Given the description of an element on the screen output the (x, y) to click on. 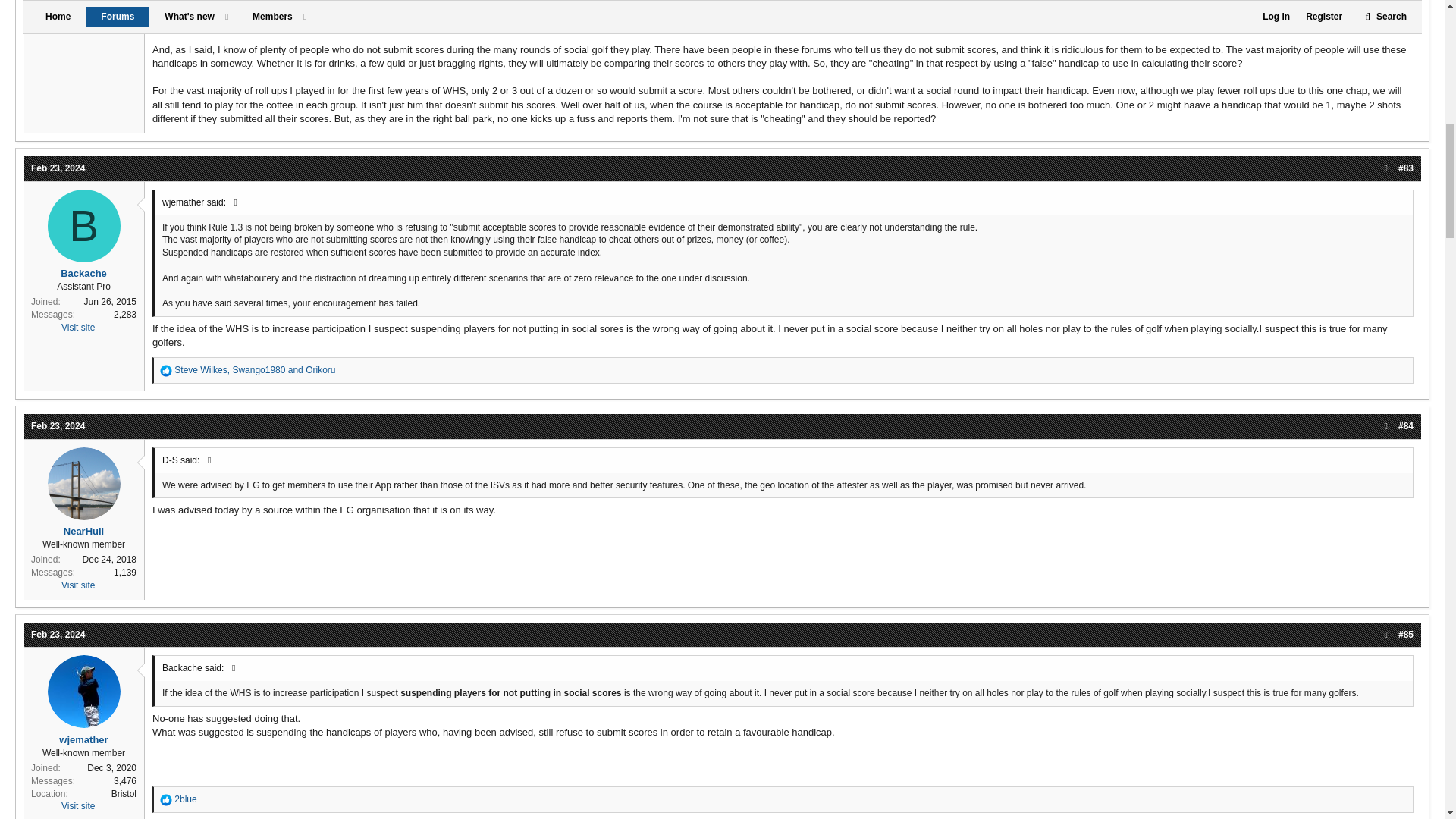
Feb 23, 2024 at 5:40 PM (57, 634)
Like (165, 370)
Like (165, 799)
Feb 23, 2024 at 5:18 PM (57, 167)
Feb 23, 2024 at 5:21 PM (57, 425)
